Given the description of an element on the screen output the (x, y) to click on. 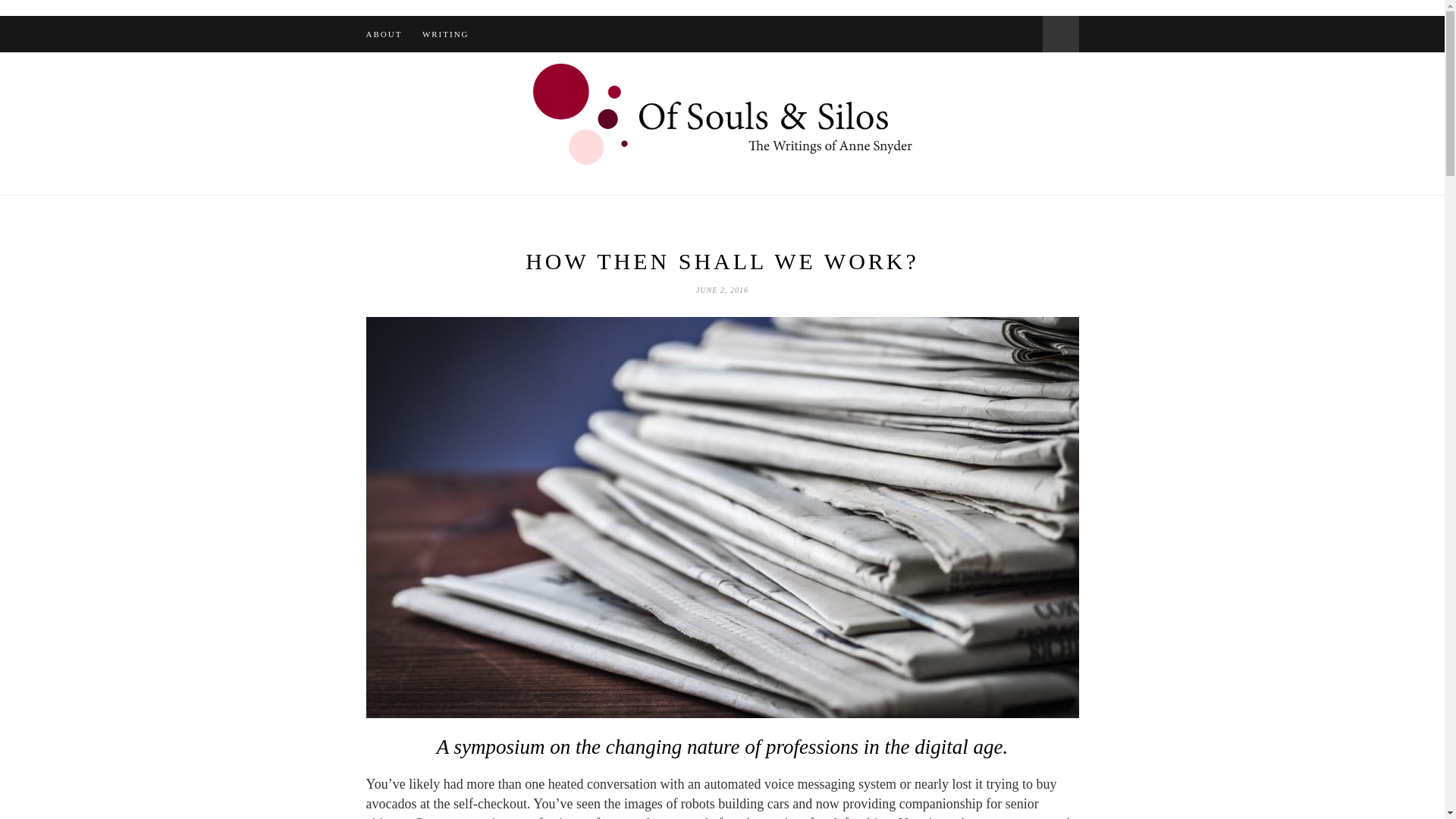
ABOUT (383, 33)
WRITING (445, 33)
